Given the description of an element on the screen output the (x, y) to click on. 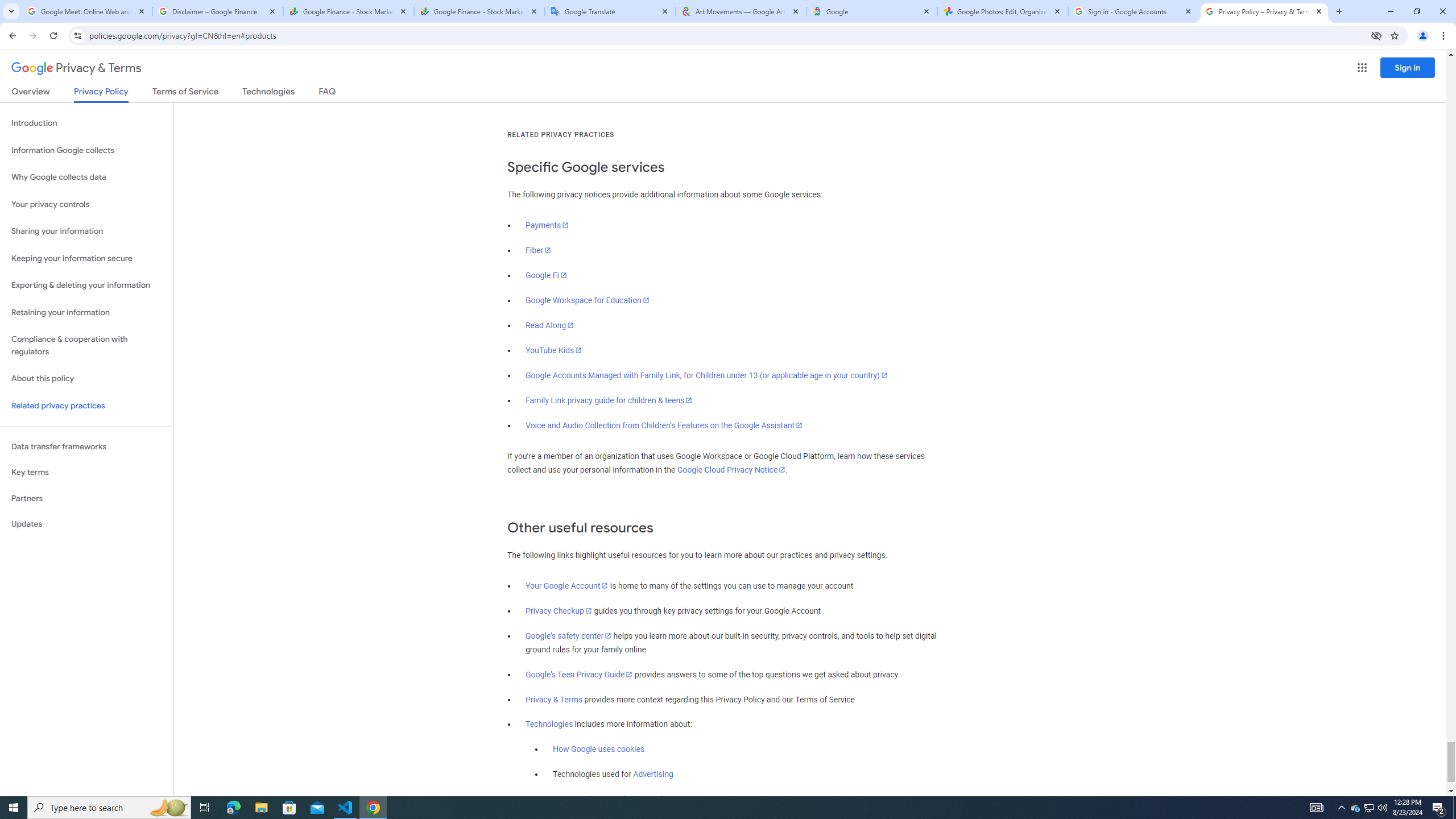
Google Workspace for Education (587, 299)
Google Cloud Privacy Notice (731, 469)
Compliance & cooperation with regulators (86, 345)
Why Google collects data (86, 176)
Sharing your information (86, 230)
Introduction (86, 122)
Keeping your information secure (86, 258)
